Given the description of an element on the screen output the (x, y) to click on. 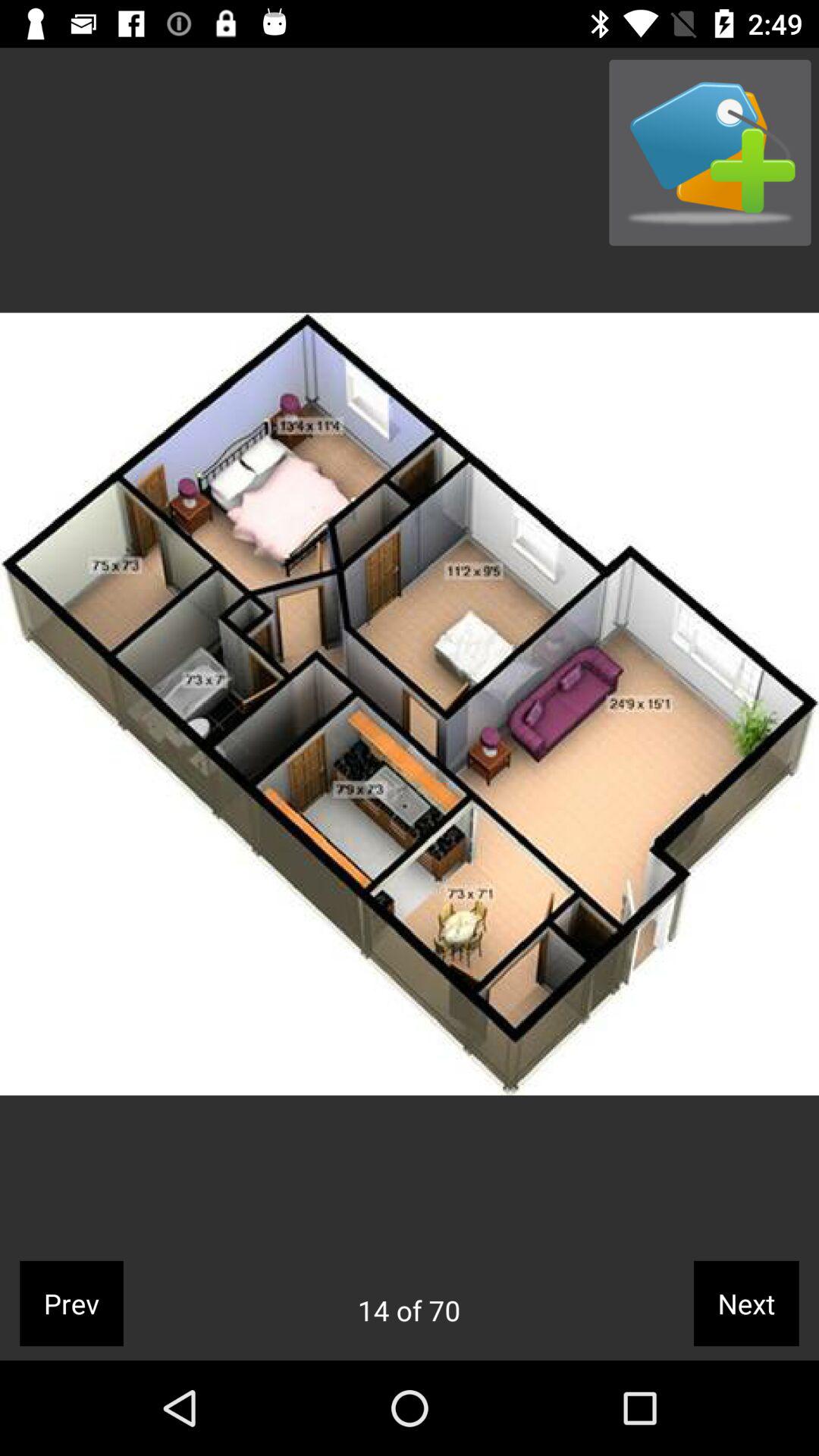
turn off the prev (71, 1303)
